Given the description of an element on the screen output the (x, y) to click on. 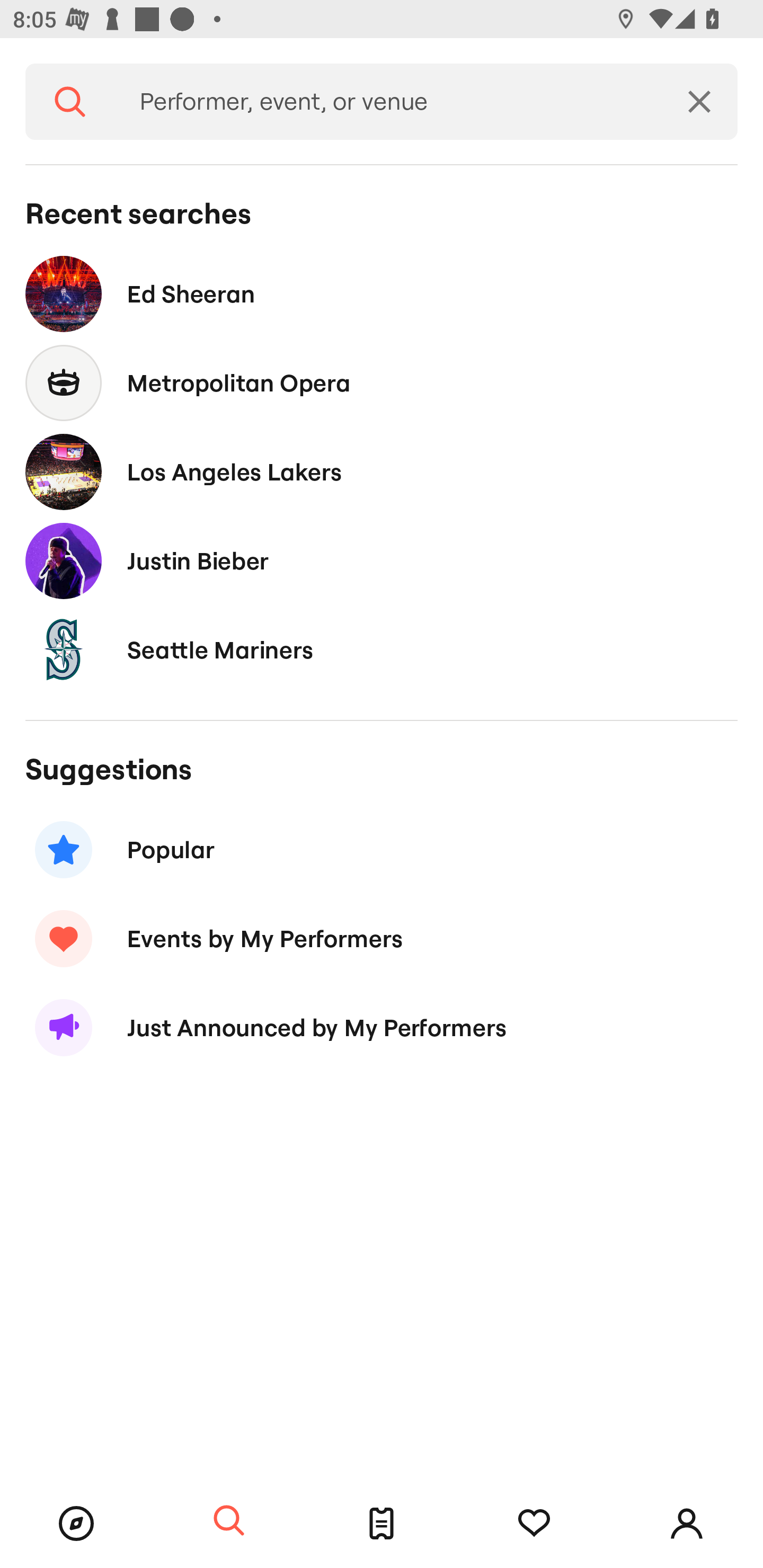
Search (69, 101)
Performer, event, or venue (387, 101)
Clear (699, 101)
Ed Sheeran (381, 293)
Metropolitan Opera (381, 383)
Los Angeles Lakers (381, 471)
Justin Bieber (381, 560)
Seattle Mariners (381, 649)
Popular (381, 849)
Events by My Performers (381, 938)
Just Announced by My Performers (381, 1027)
Browse (76, 1523)
Search (228, 1521)
Tickets (381, 1523)
Tracking (533, 1523)
Account (686, 1523)
